Given the description of an element on the screen output the (x, y) to click on. 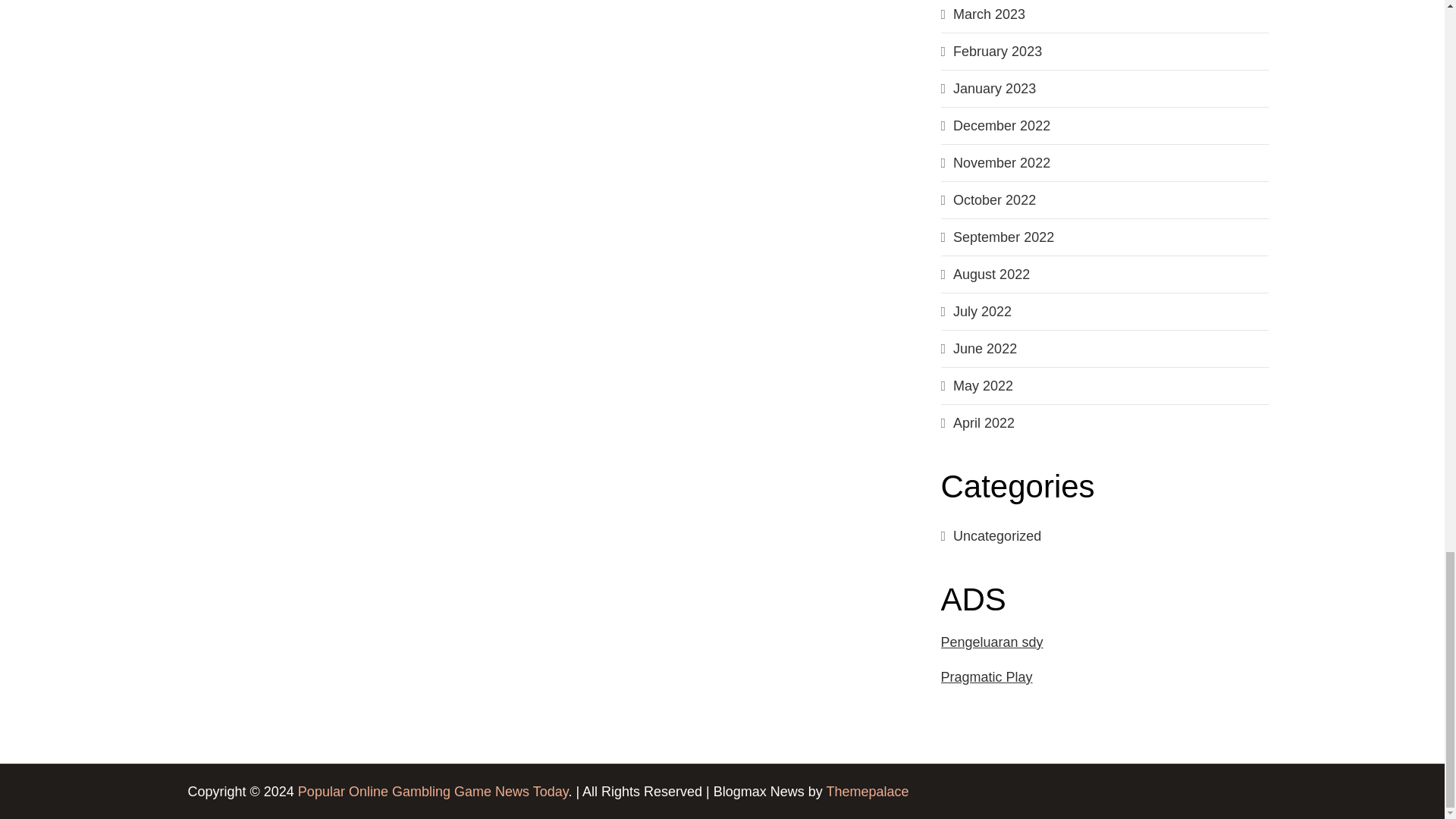
March 2023 (989, 14)
November 2022 (1001, 162)
December 2022 (1001, 125)
February 2023 (997, 51)
January 2023 (994, 88)
